Given the description of an element on the screen output the (x, y) to click on. 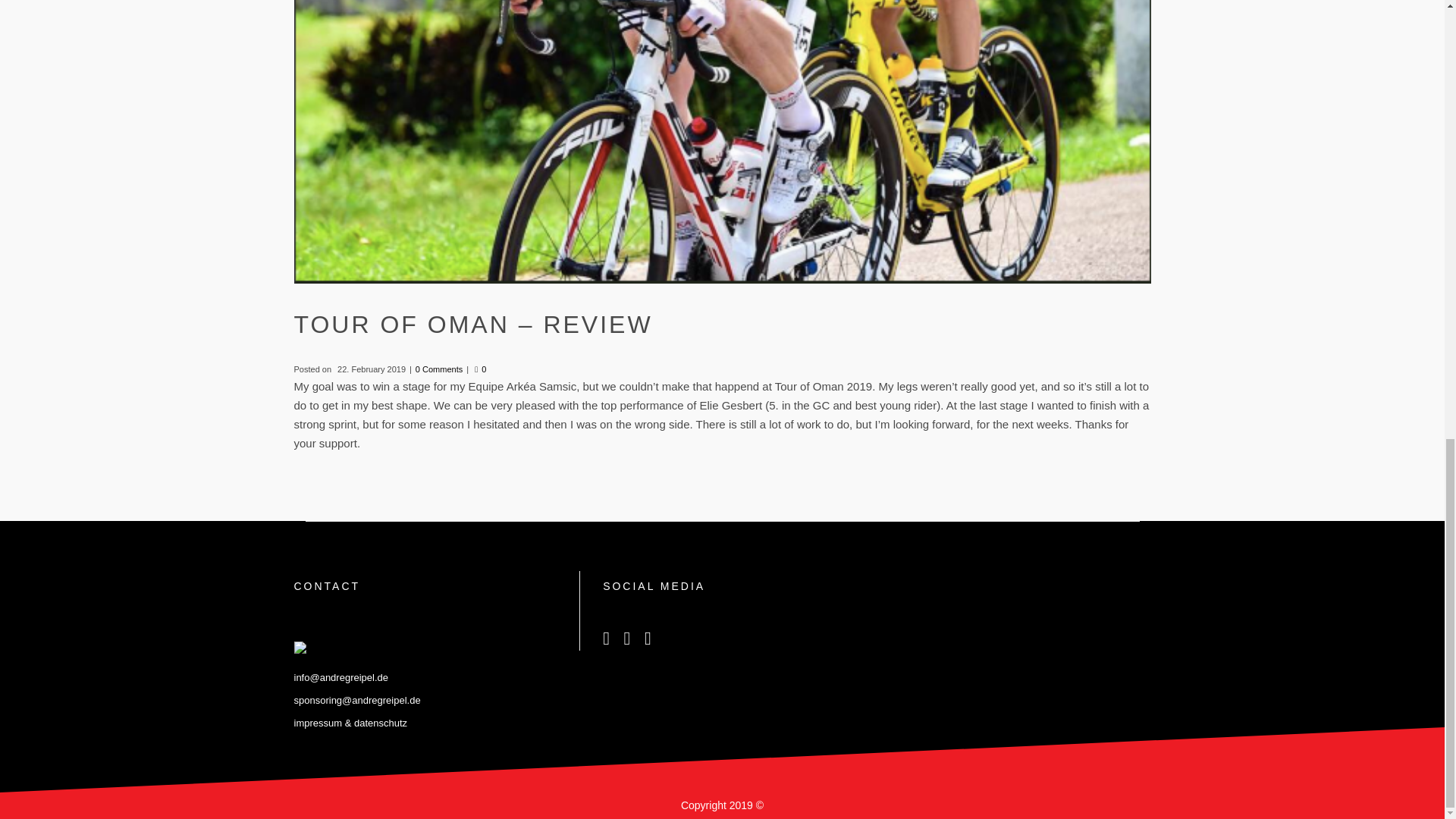
Like this (480, 368)
0 (480, 368)
0 Comments (438, 368)
